Given the description of an element on the screen output the (x, y) to click on. 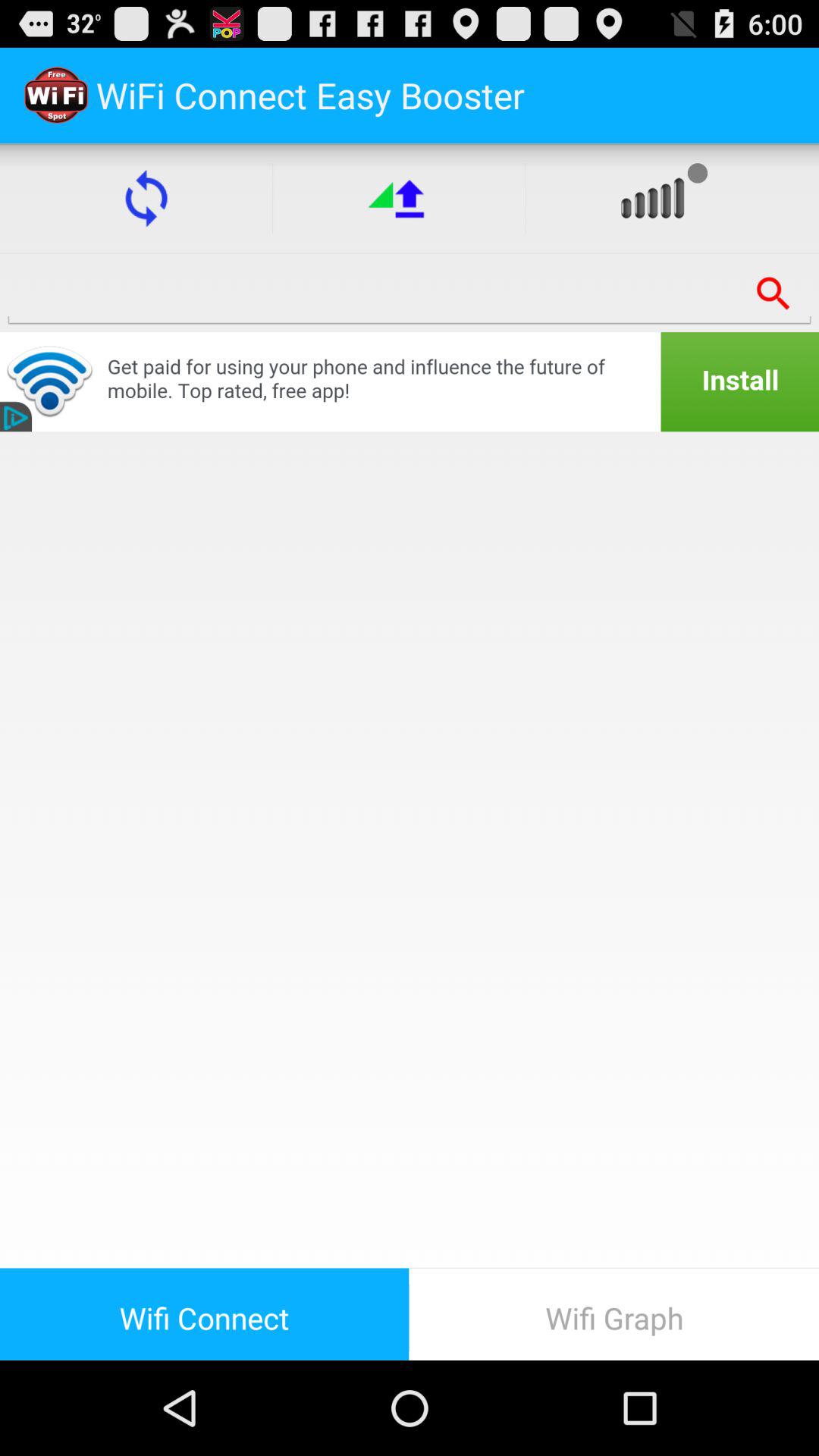
open the item below the wifi connect easy item (145, 198)
